Given the description of an element on the screen output the (x, y) to click on. 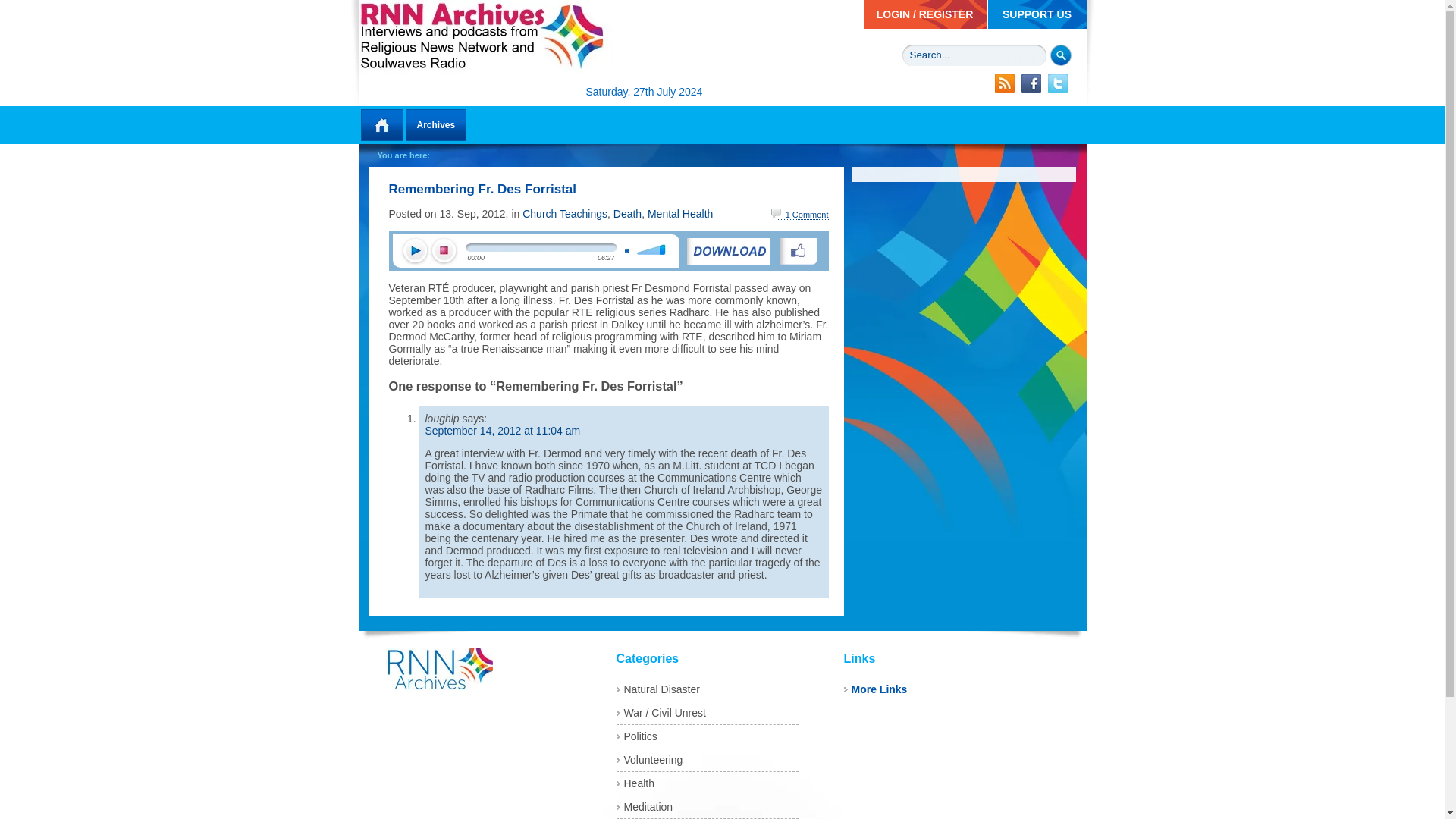
More Links (878, 689)
play (414, 251)
Death (627, 214)
View all posts in Meditation (647, 806)
SUPPORT US (1036, 14)
Submit (1059, 55)
Volunteering (652, 759)
View all posts in Natural Disaster (660, 689)
Mental Health (680, 214)
Politics (639, 736)
September 14, 2012 at 11:04 am (502, 430)
View all posts in Health (638, 783)
View all posts in Politics (639, 736)
Home (381, 124)
Church Teachings (564, 214)
